Given the description of an element on the screen output the (x, y) to click on. 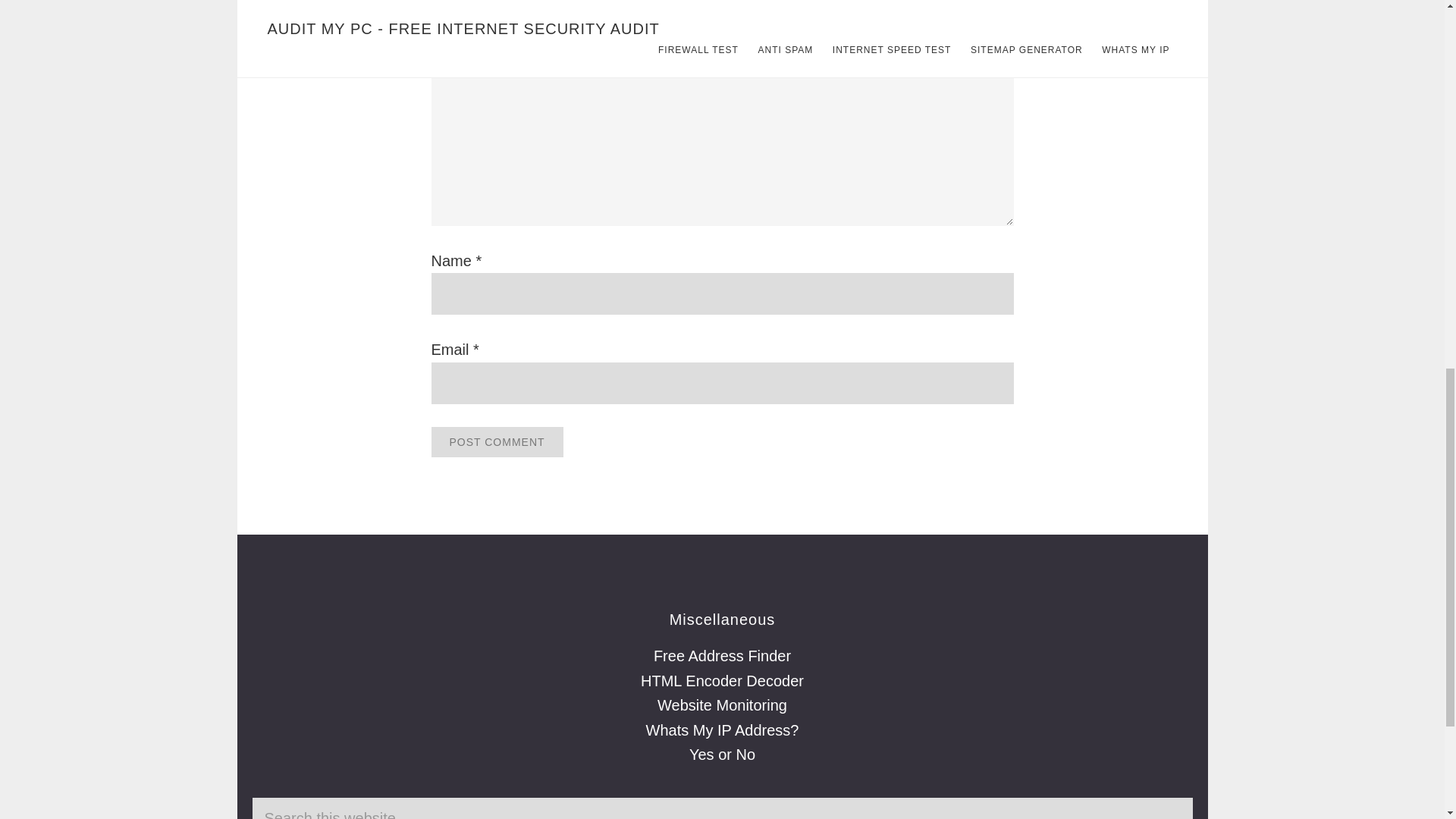
Post Comment (496, 441)
Post Comment (496, 441)
Website Monitoring (722, 704)
HTML Encoder Decoder (721, 680)
Yes or No (721, 754)
Free Address Finder (721, 655)
Whats My IP Address? (722, 729)
